Given the description of an element on the screen output the (x, y) to click on. 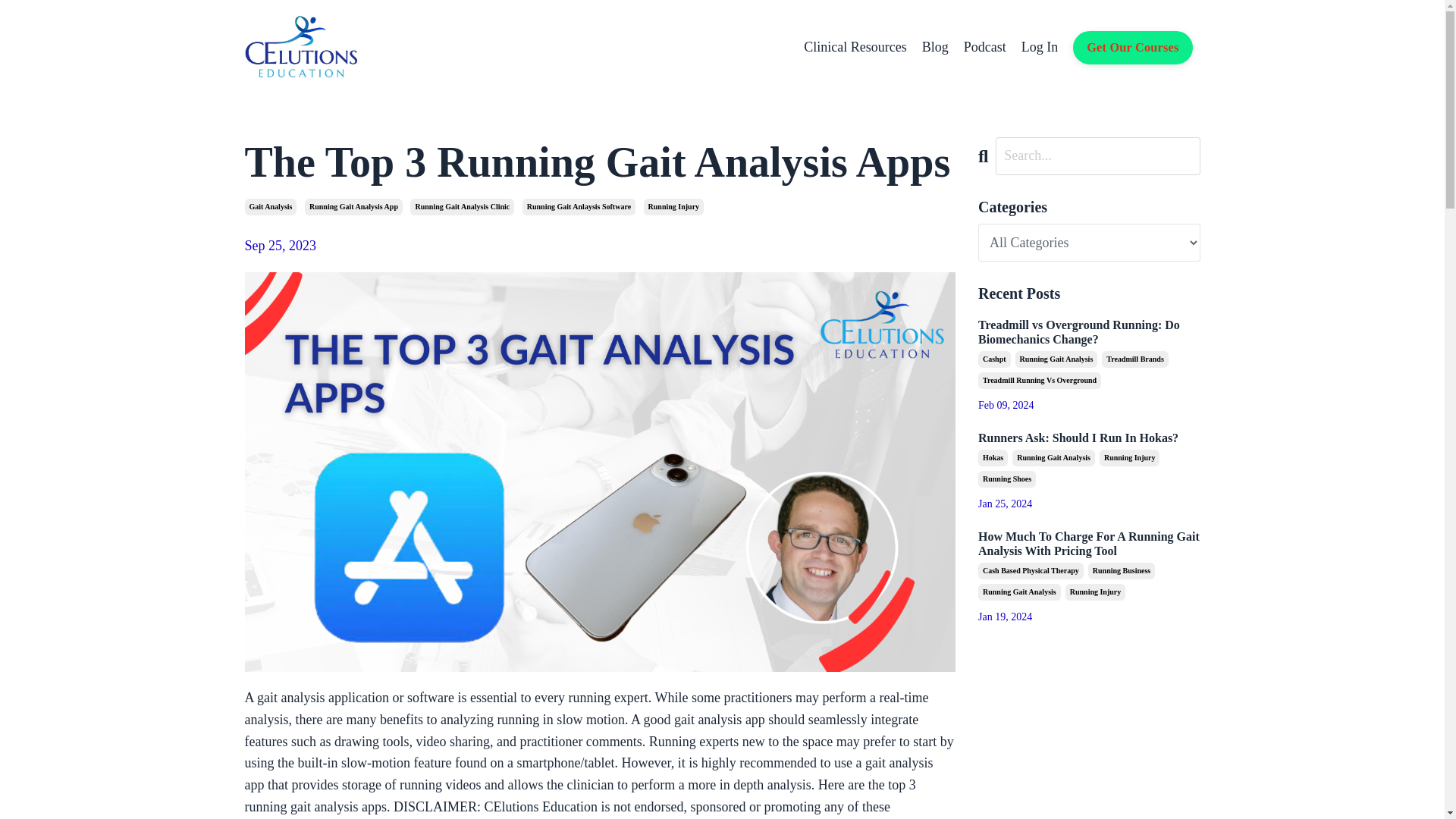
Running Injury (673, 207)
Running Injury (1095, 591)
Treadmill Running Vs Overground (1039, 380)
Running Gait Analysis (1019, 591)
Running Injury (1129, 457)
Log In (1040, 46)
Gait Analysis (270, 207)
Blog (935, 47)
Podcast (984, 47)
Running Gait Analysis (1055, 359)
